Given the description of an element on the screen output the (x, y) to click on. 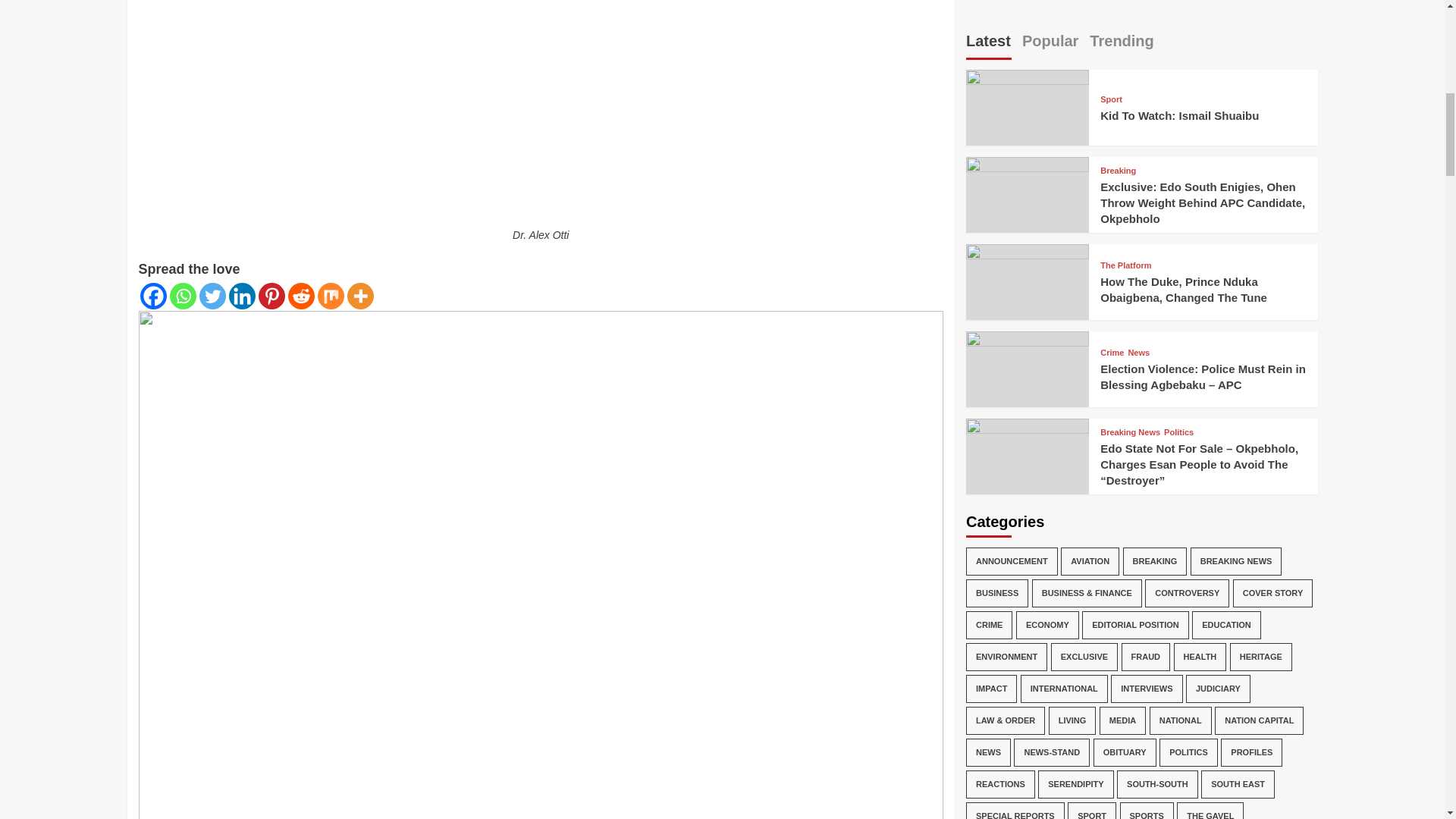
Whatsapp (183, 295)
Pinterest (270, 295)
Mix (330, 295)
Facebook (152, 295)
Twitter (211, 295)
Linkedin (242, 295)
Reddit (301, 295)
More (360, 295)
